Given the description of an element on the screen output the (x, y) to click on. 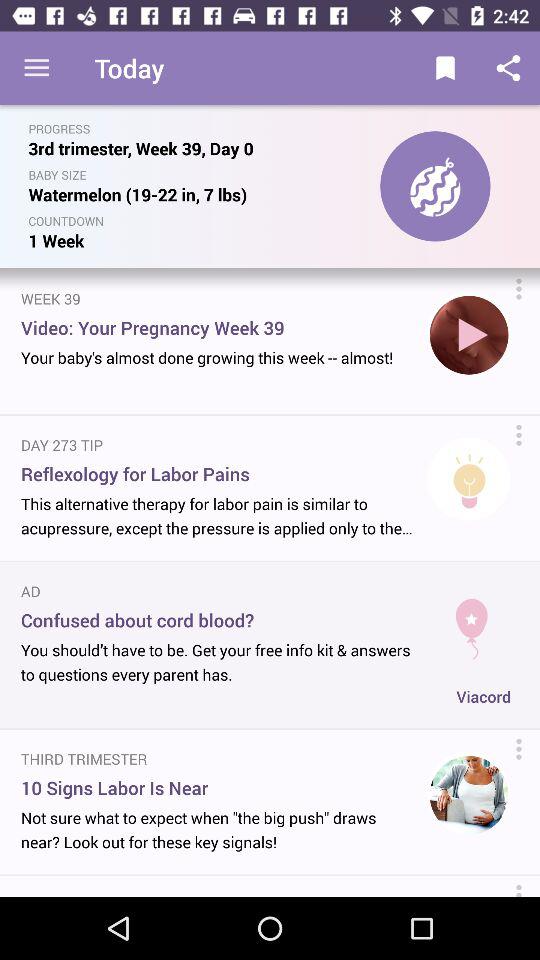
select item next to the ad item (471, 620)
